Given the description of an element on the screen output the (x, y) to click on. 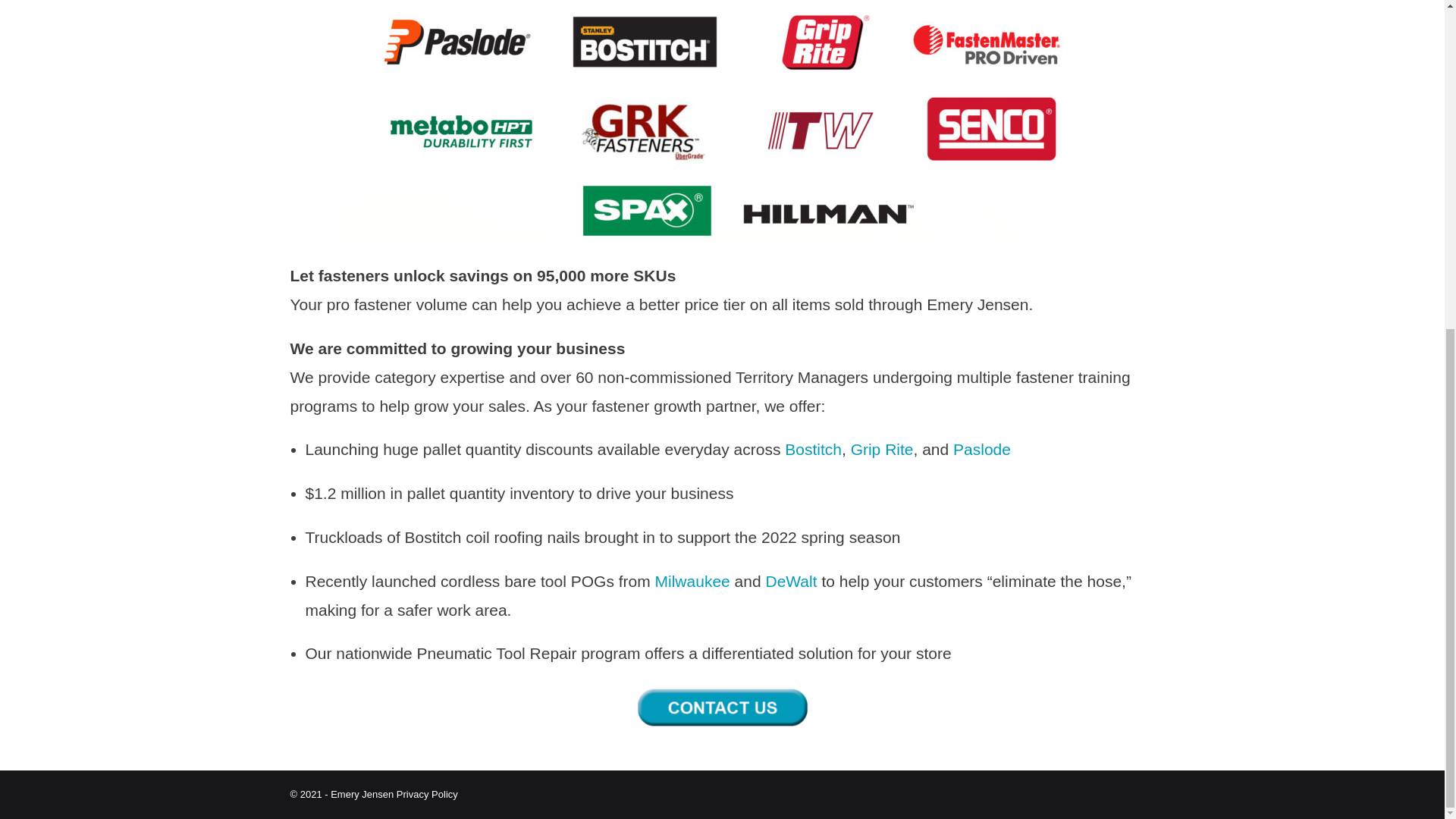
Bostitch (812, 448)
Grip Rite (882, 448)
DeWalt (790, 580)
Paslode (981, 448)
Milwaukee (692, 580)
